Given the description of an element on the screen output the (x, y) to click on. 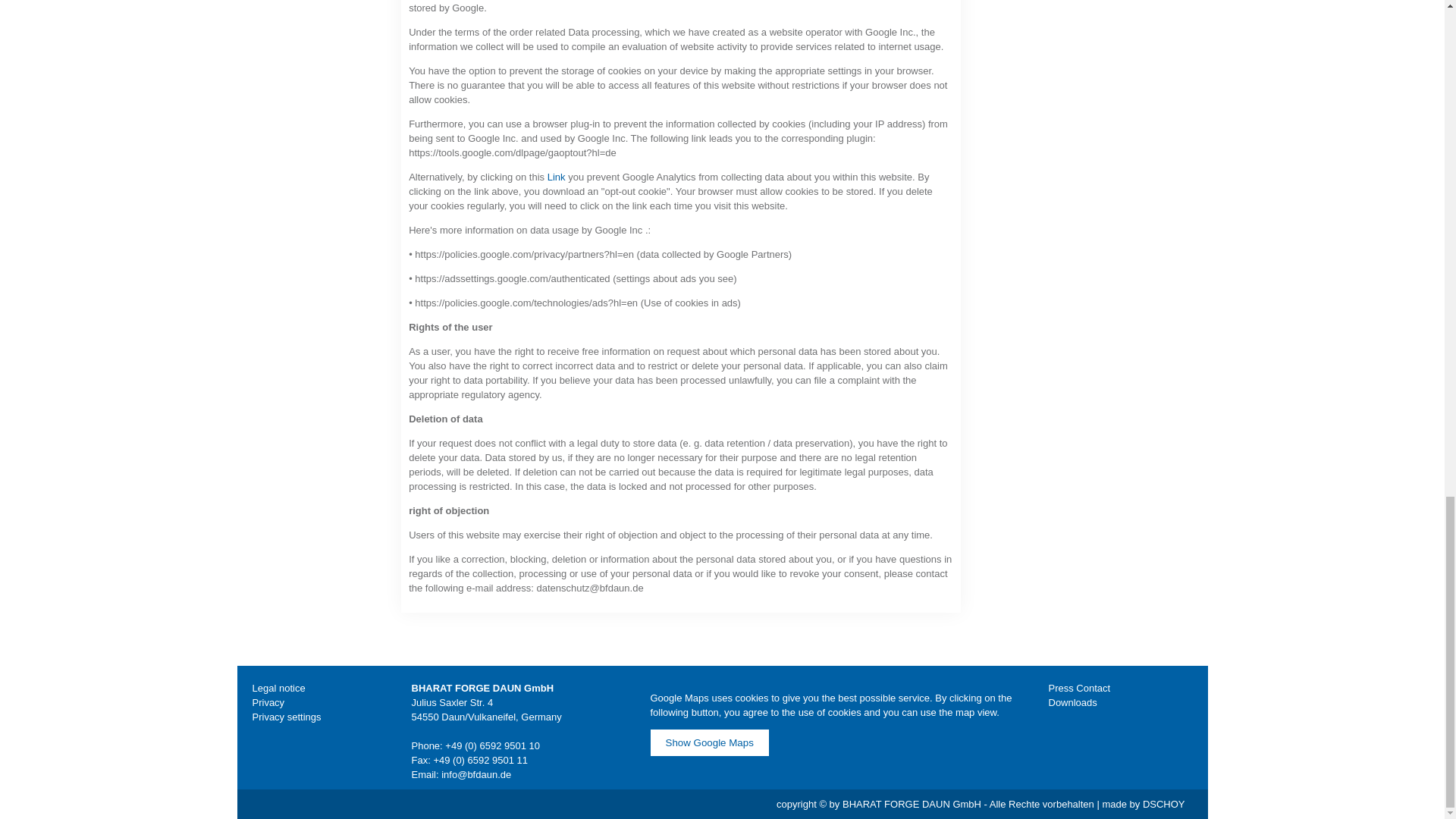
Legal notice (277, 687)
Privacy settings (285, 716)
Downloads (1072, 702)
made by DSCHOY (1143, 803)
Legal notice (277, 687)
Privacy (267, 702)
Privacy (267, 702)
Press Contact (1078, 687)
Link (556, 176)
Show Google Maps (709, 742)
